Given the description of an element on the screen output the (x, y) to click on. 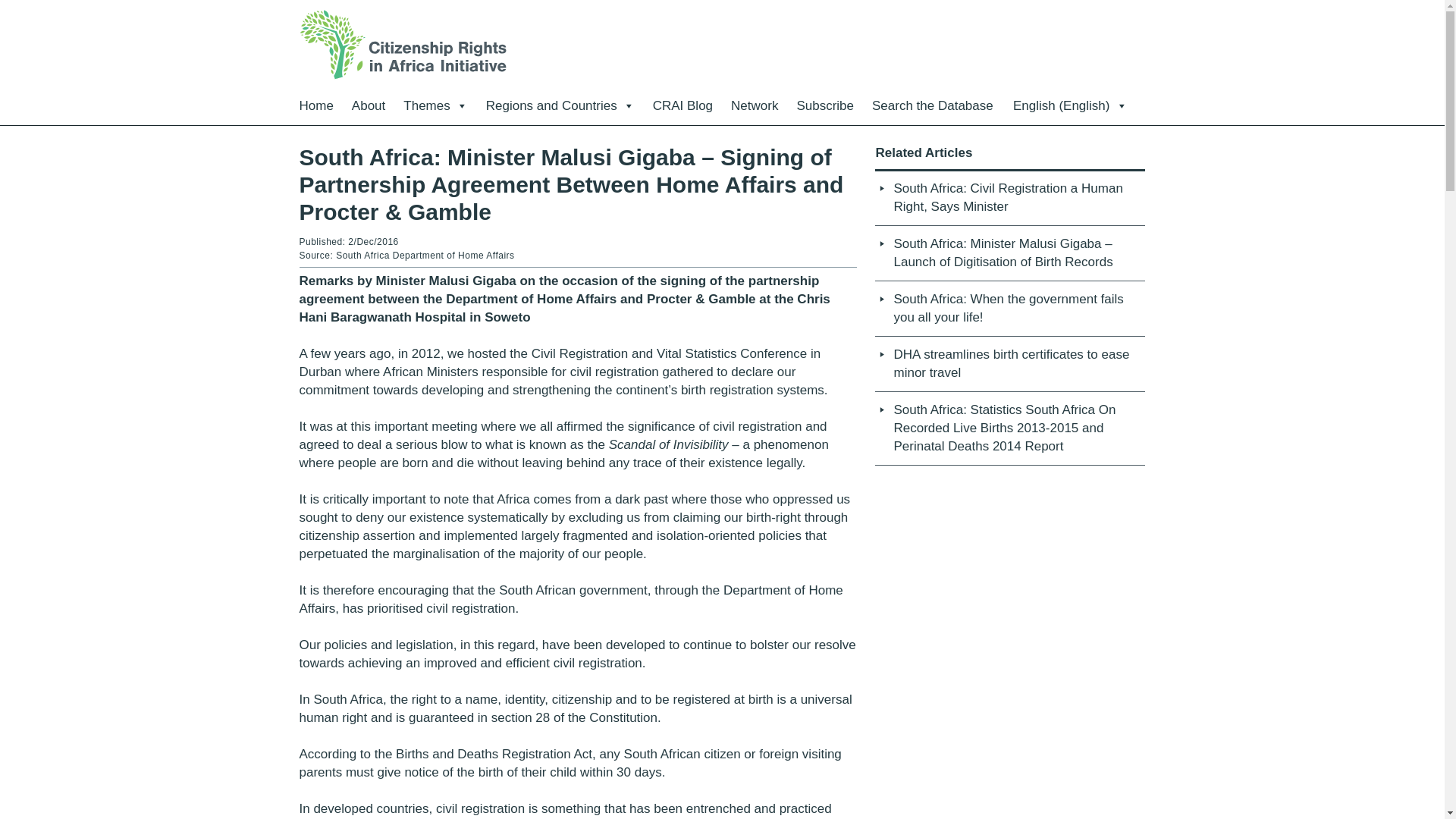
Themes (435, 105)
English (1069, 105)
Home (315, 105)
Regions and Countries (560, 105)
About (368, 105)
